Given the description of an element on the screen output the (x, y) to click on. 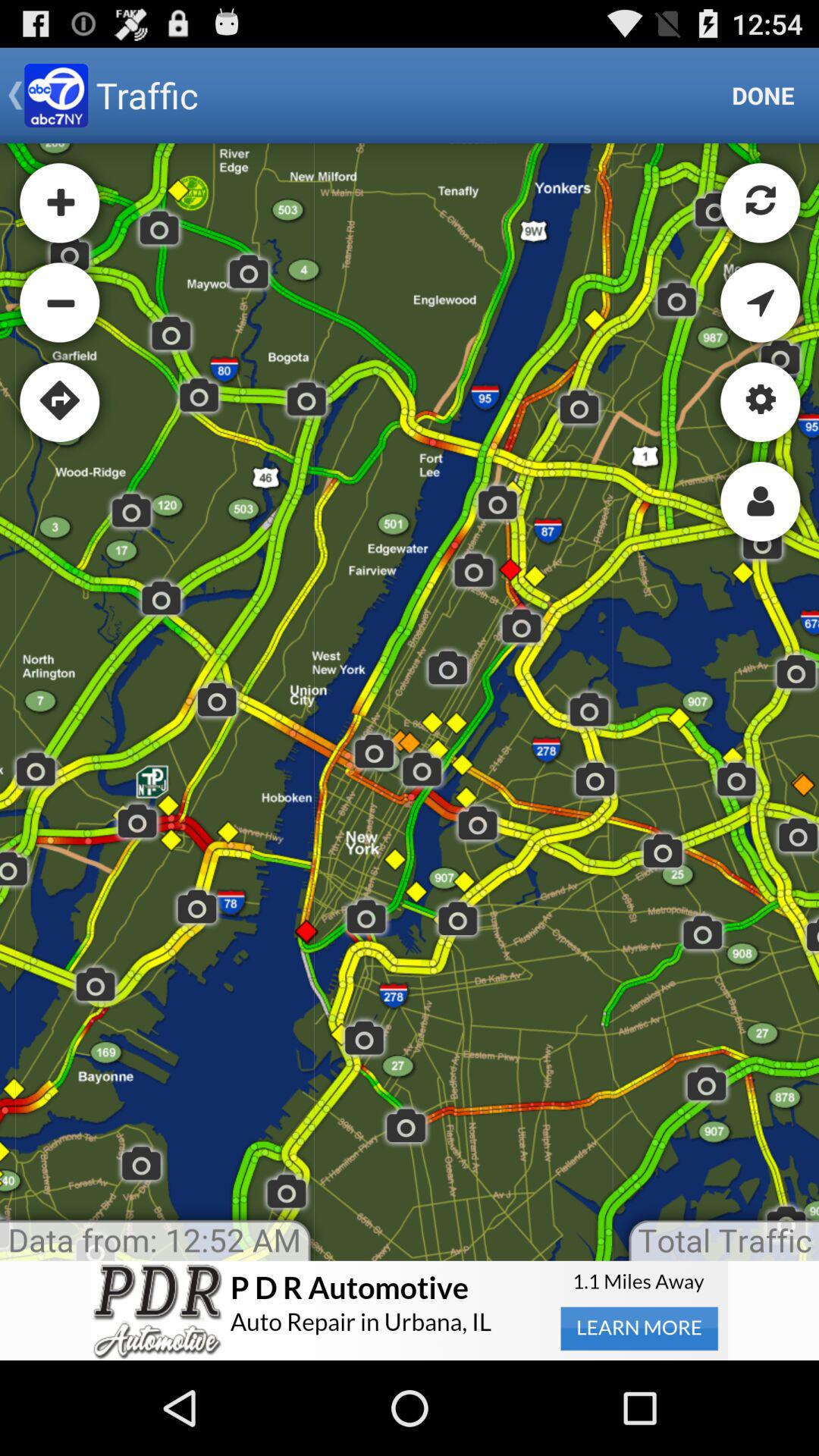
google map (409, 701)
